Given the description of an element on the screen output the (x, y) to click on. 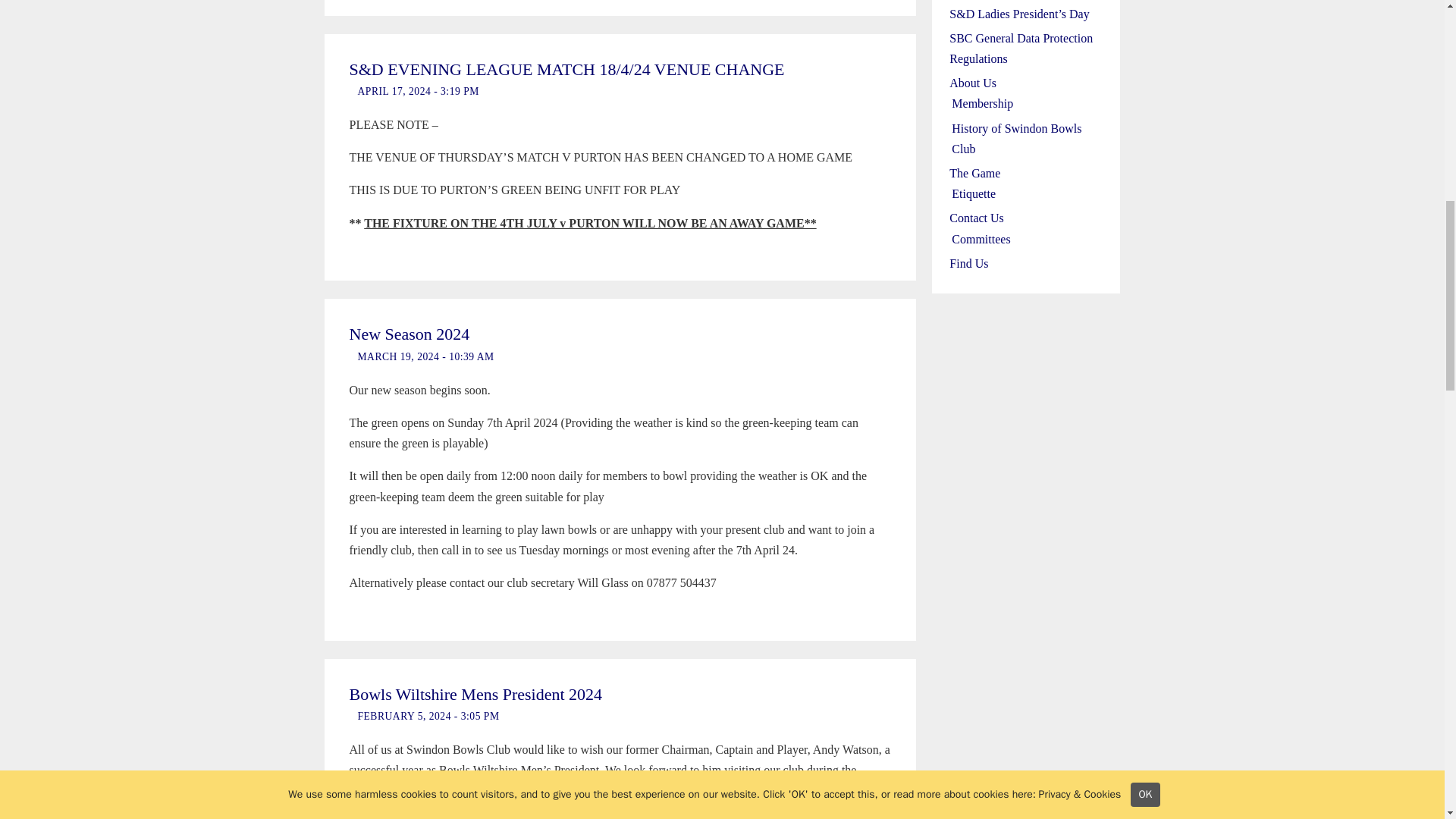
Permalink to Bowls Wiltshire Mens President 2024 (475, 693)
APRIL 17, 2024 - 3:19 PM (418, 91)
Permalink to New Season 2024 (408, 333)
New Season 2024 (408, 333)
MARCH 19, 2024 - 10:39 AM (426, 356)
